Given the description of an element on the screen output the (x, y) to click on. 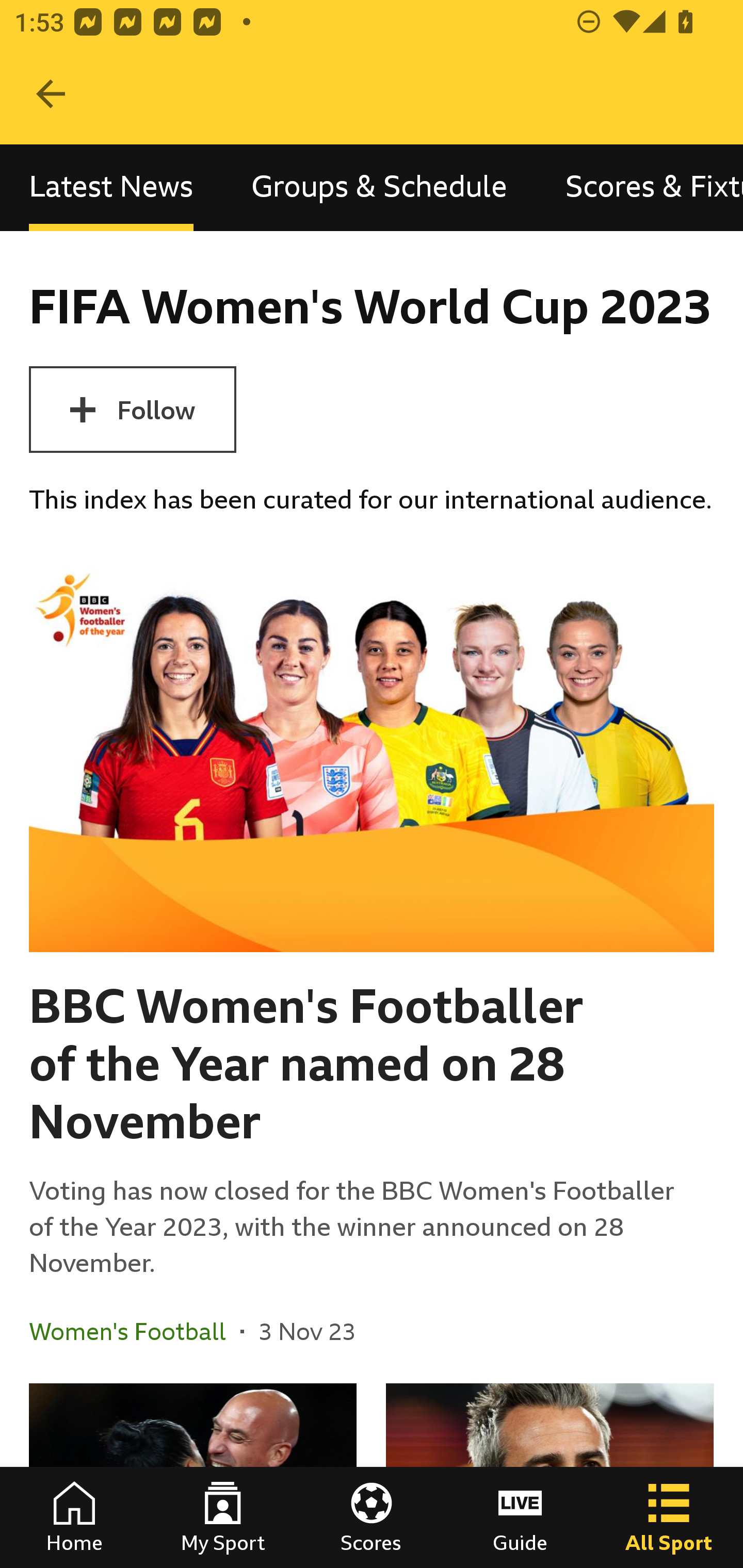
Navigate up (50, 93)
Latest News, selected Latest News (111, 187)
Groups & Schedule (379, 187)
Scores & Fixtures (639, 187)
Follow FIFA Women's World Cup 2023 Follow (132, 409)
Women's Football In the section Women's Football (134, 1330)
Home (74, 1517)
My Sport (222, 1517)
Scores (371, 1517)
Guide (519, 1517)
